Given the description of an element on the screen output the (x, y) to click on. 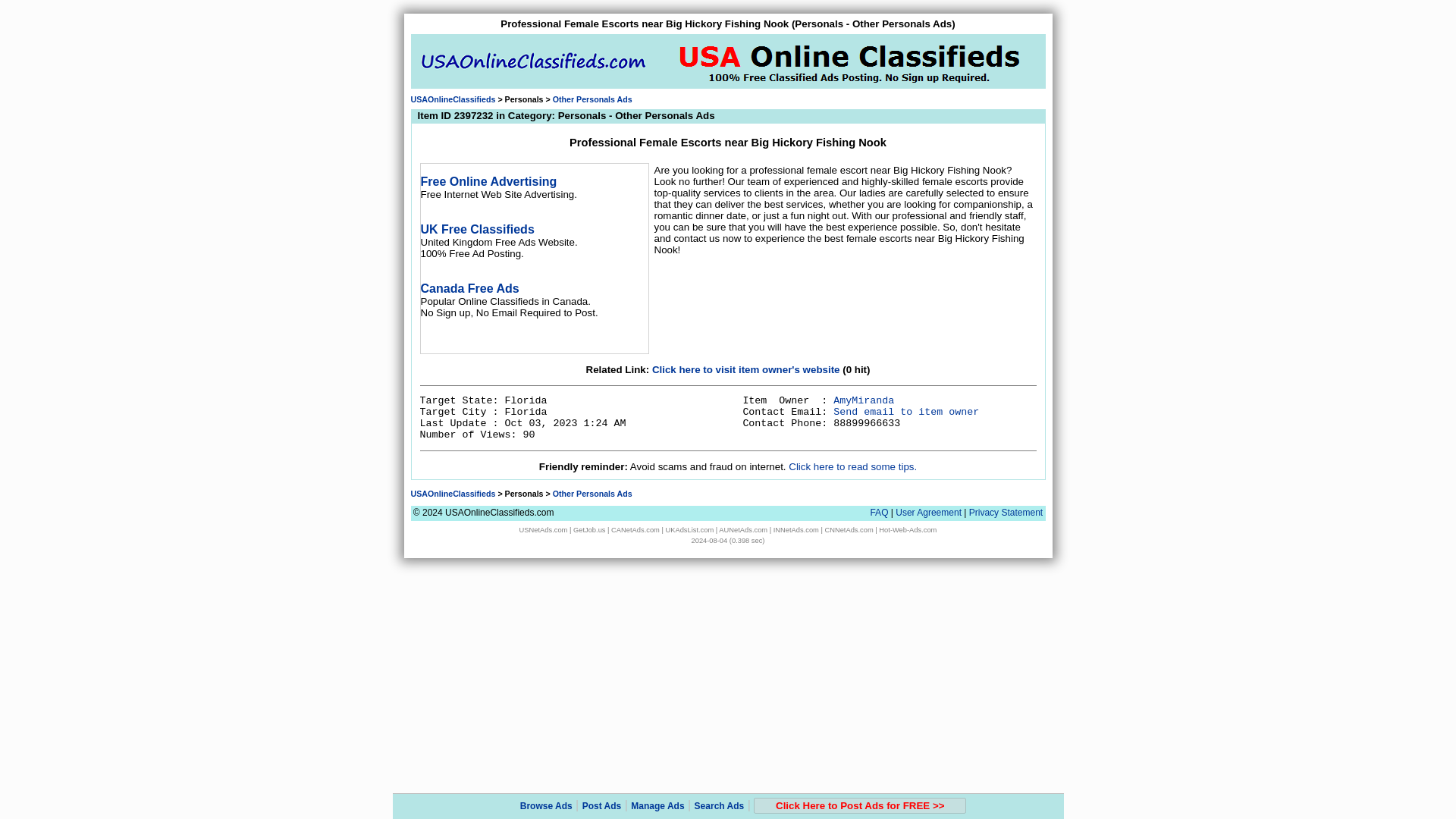
Go Back to USAOnlineClassifieds.com Home Page (453, 492)
Other Personals Ads (592, 492)
GetJob.us (589, 529)
Canada Free Ads (469, 287)
AmyMiranda (862, 400)
Browse all items posted by this owner (862, 400)
UK Free Classifieds (477, 228)
FAQ (878, 511)
AUNetAds.com (743, 529)
USAOnlineClassifieds (453, 492)
Click here to visit item owner's website (746, 369)
Free Online Advertising (488, 181)
USAOnlineClassifieds (453, 99)
Click here to read some tips. (853, 466)
Privacy Statement (1005, 511)
